Given the description of an element on the screen output the (x, y) to click on. 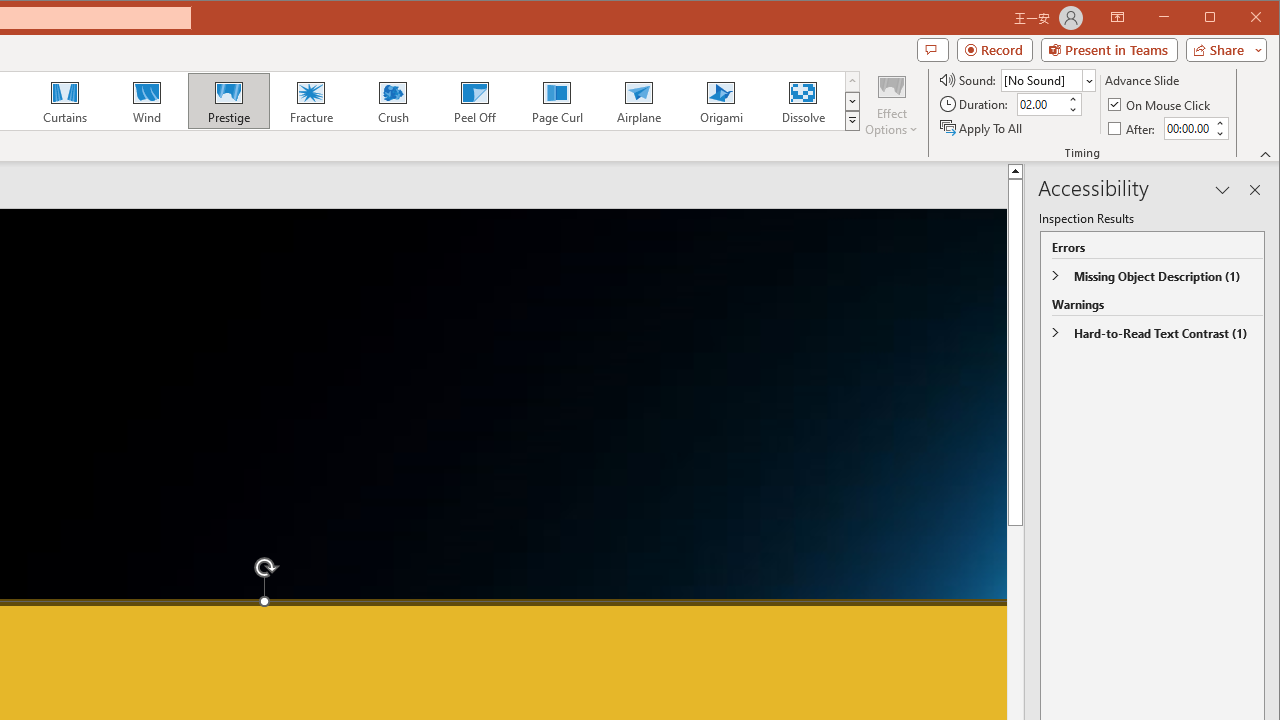
On Mouse Click (1160, 103)
Sound (1047, 80)
Duration (1040, 104)
Fracture (311, 100)
Wind (147, 100)
Peel Off (474, 100)
Prestige (229, 100)
